Given the description of an element on the screen output the (x, y) to click on. 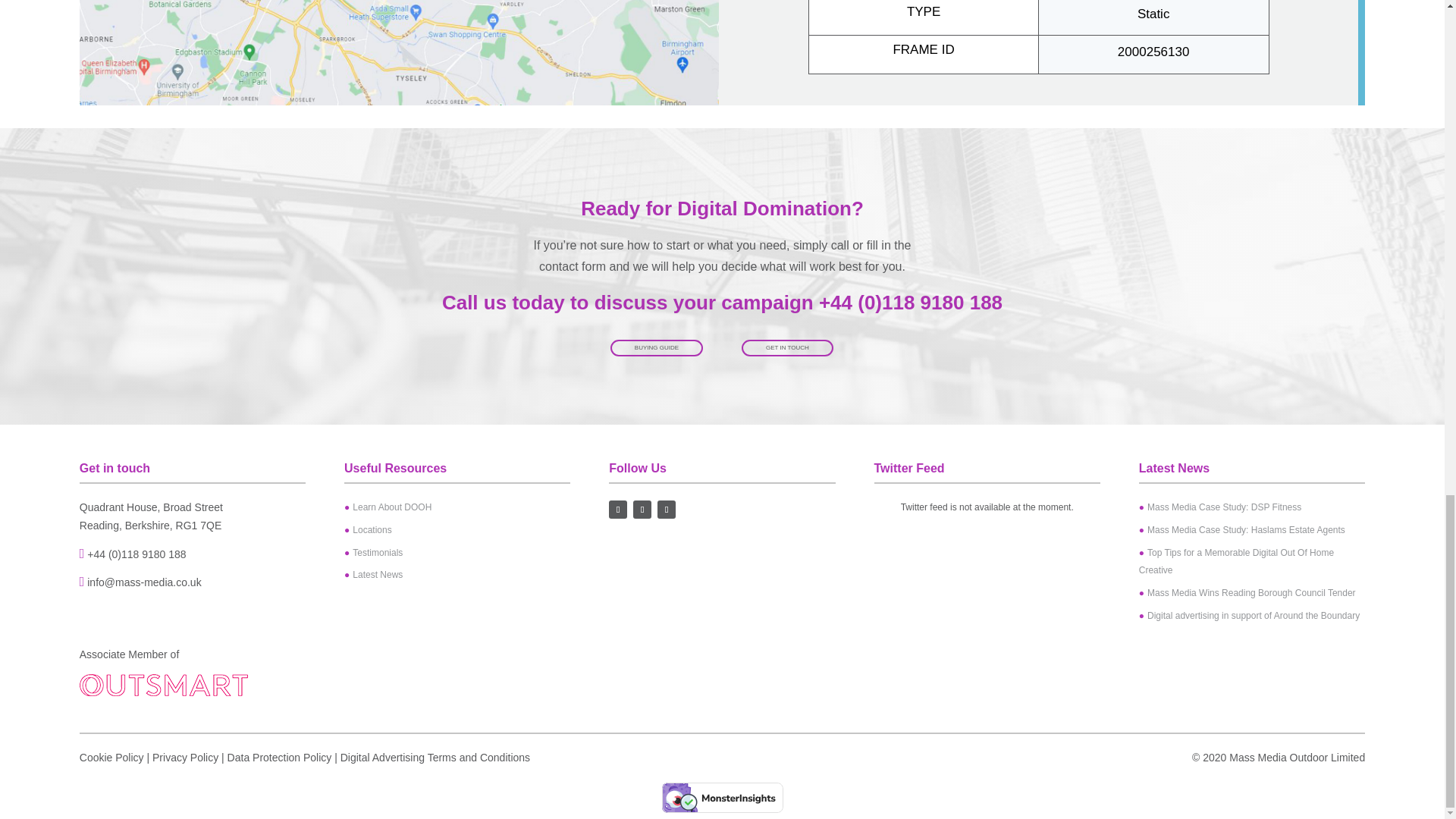
Follow on LinkedIn (666, 509)
Follow on Twitter (641, 509)
GET IN TOUCH (786, 347)
Top Tips for a Memorable Digital Out Of Home Creative (1235, 561)
Mass Media Wins Reading Borough Council Tender (1246, 593)
Latest News (373, 574)
gbfgbsbgbs (399, 52)
Learn About DOOH (386, 507)
Locations (367, 529)
Follow on Facebook (617, 509)
Testimonials (373, 552)
Mass Media Case Study: Haslams Estate Agents (1241, 529)
BUYING GUIDE (656, 347)
Verified by MonsterInsights (722, 797)
Mass Media Case Study: DSP Fitness (1219, 507)
